Given the description of an element on the screen output the (x, y) to click on. 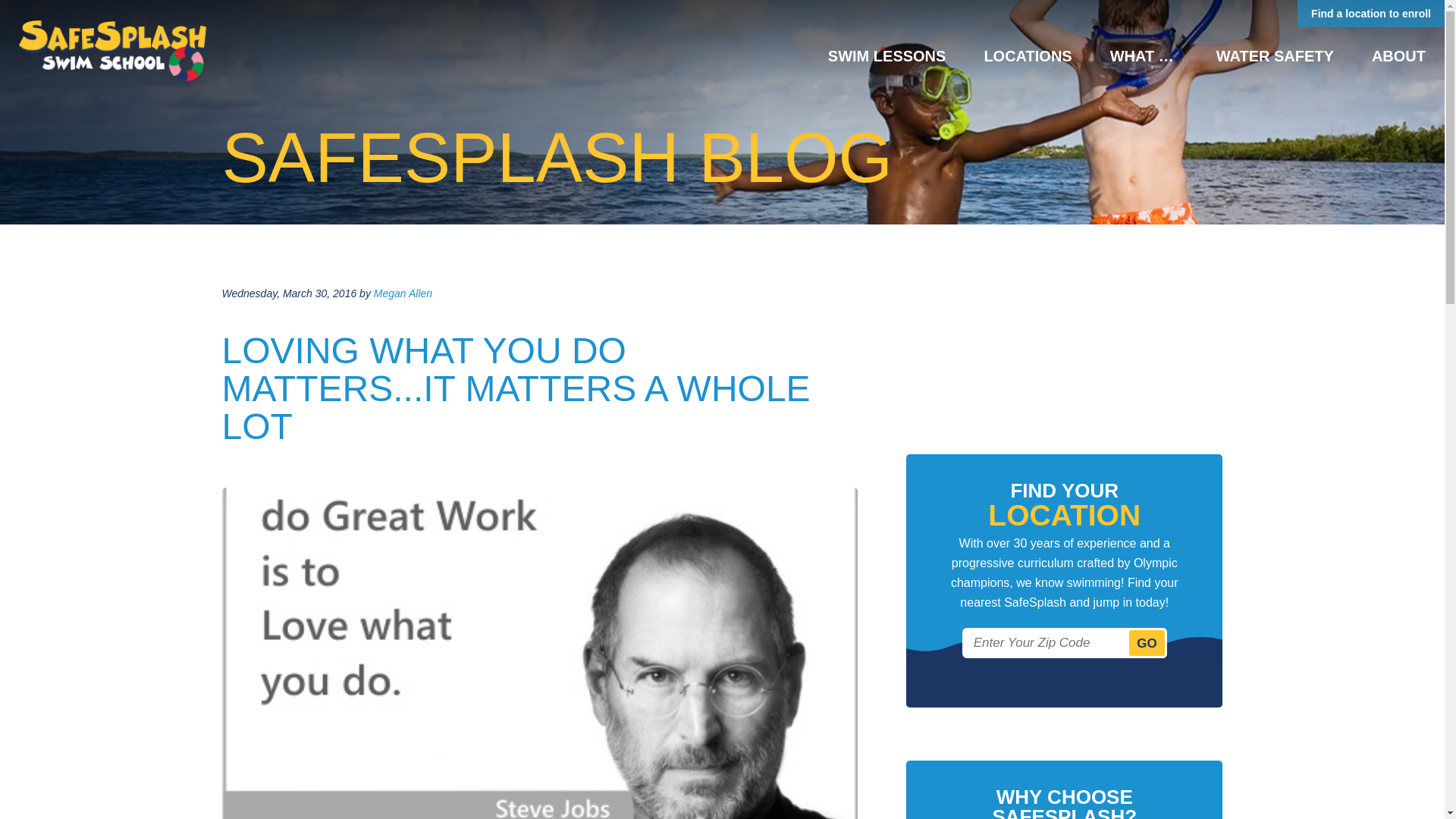
SWIM LESSONS (887, 56)
WATER SAFETY (1274, 56)
LOCATIONS (1026, 56)
WHAT TO EXPECT (1143, 56)
Megan Allen (403, 293)
Find a location to enroll (1370, 13)
